Given the description of an element on the screen output the (x, y) to click on. 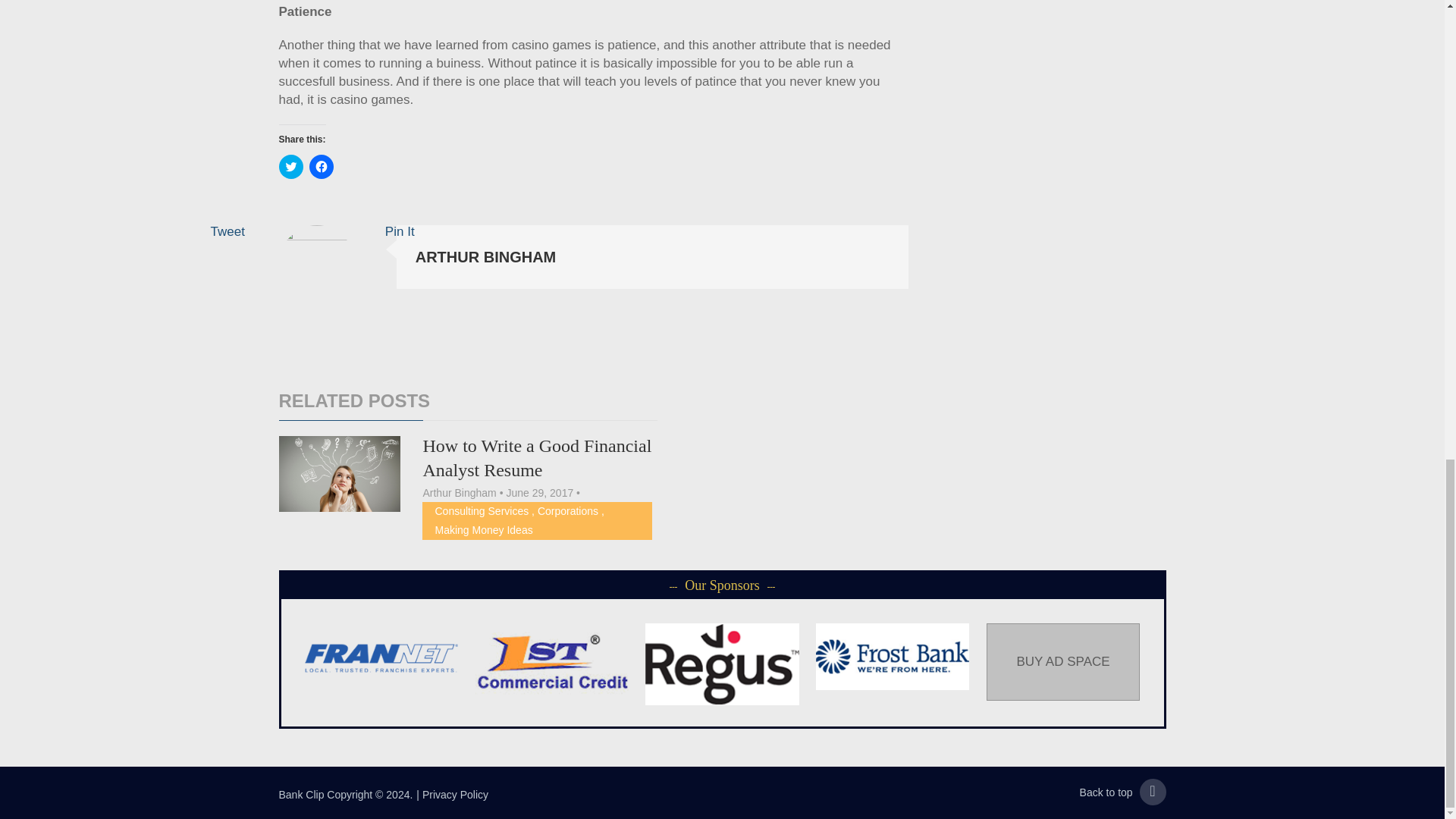
Back to top (1123, 791)
How to Write a Good Financial Analyst Resume (536, 457)
ARTHUR BINGHAM (485, 256)
Click to share on Twitter (290, 166)
How to Write a Good Financial Analyst Resume (339, 473)
Click to share on Facebook (320, 166)
View all posts in Consulting Services (480, 510)
View all posts in Corporations (567, 510)
Posts by Arthur Bingham (459, 492)
View all posts in Making Money Ideas (482, 530)
